Given the description of an element on the screen output the (x, y) to click on. 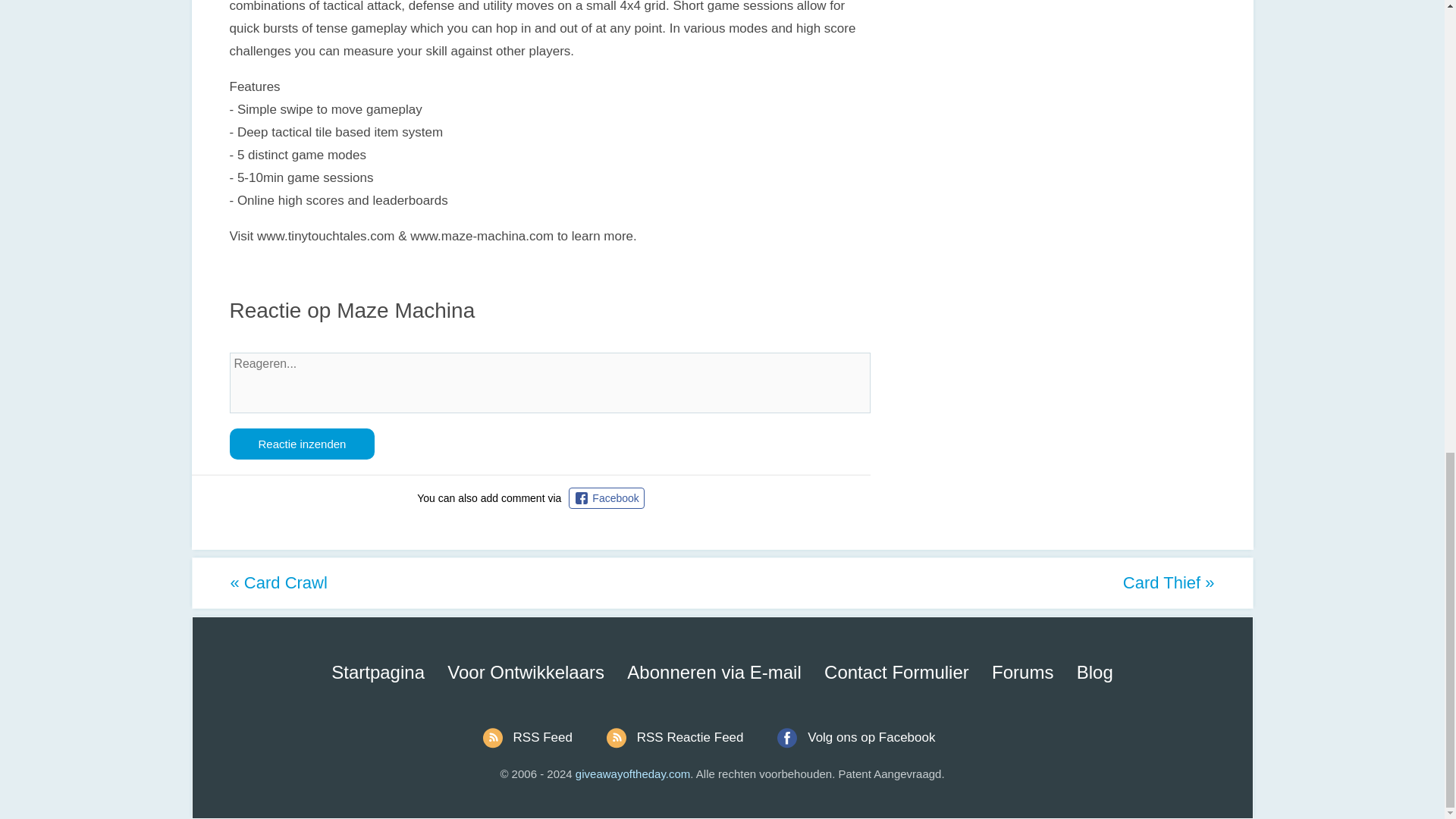
Reactie inzenden (301, 443)
Voor Ontwikkelaars (525, 671)
Abonneren via E-mail (713, 671)
Reactie inzenden (301, 443)
Startpagina (378, 671)
Contact Formulier (896, 671)
